Given the description of an element on the screen output the (x, y) to click on. 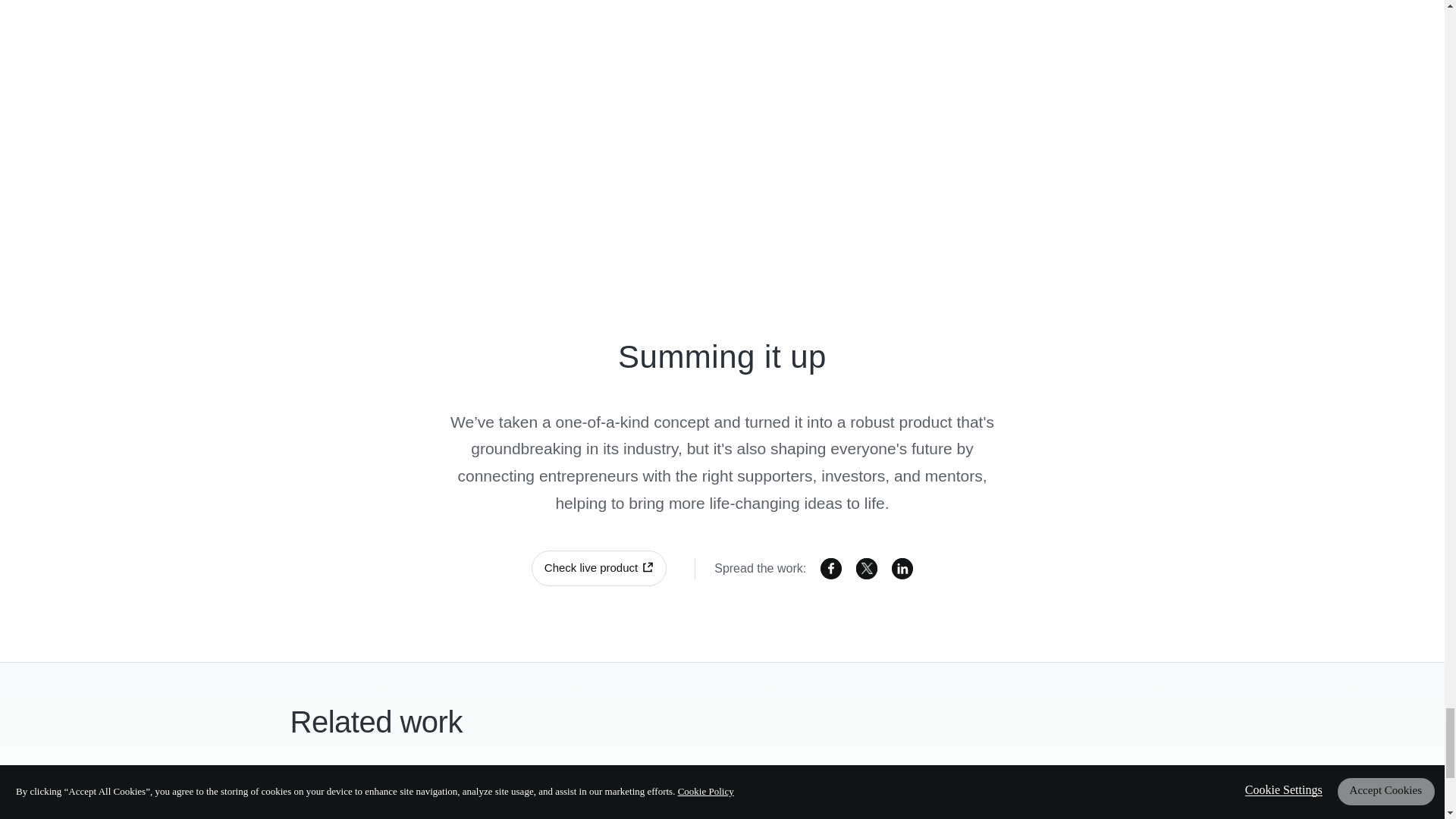
Designing a brand-new Telecom operator (722, 796)
Providing Fertility Care to everyone (425, 796)
Moving a Web3 community forward (1017, 796)
